Given the description of an element on the screen output the (x, y) to click on. 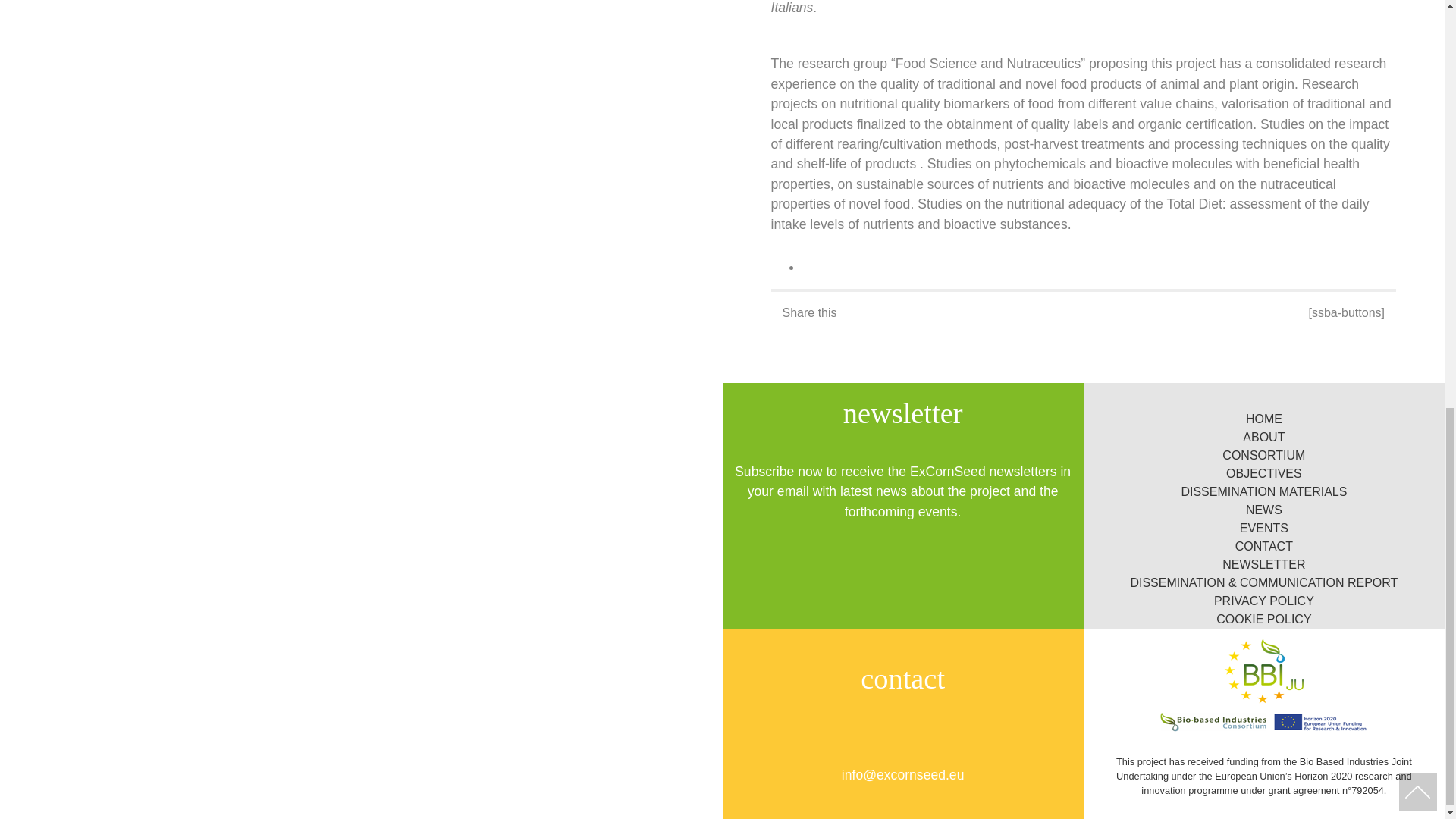
PRIVACY POLICY (1264, 600)
ABOUT (1263, 436)
CONSORTIUM (1263, 454)
efwgwrg (1263, 582)
NEWS (1264, 509)
COOKIE POLICY (1263, 618)
CONTACT (1263, 545)
DISSEMINATION MATERIALS (1263, 491)
EVENTS (1264, 527)
Tweets by EXCornsEED (360, 391)
